Given the description of an element on the screen output the (x, y) to click on. 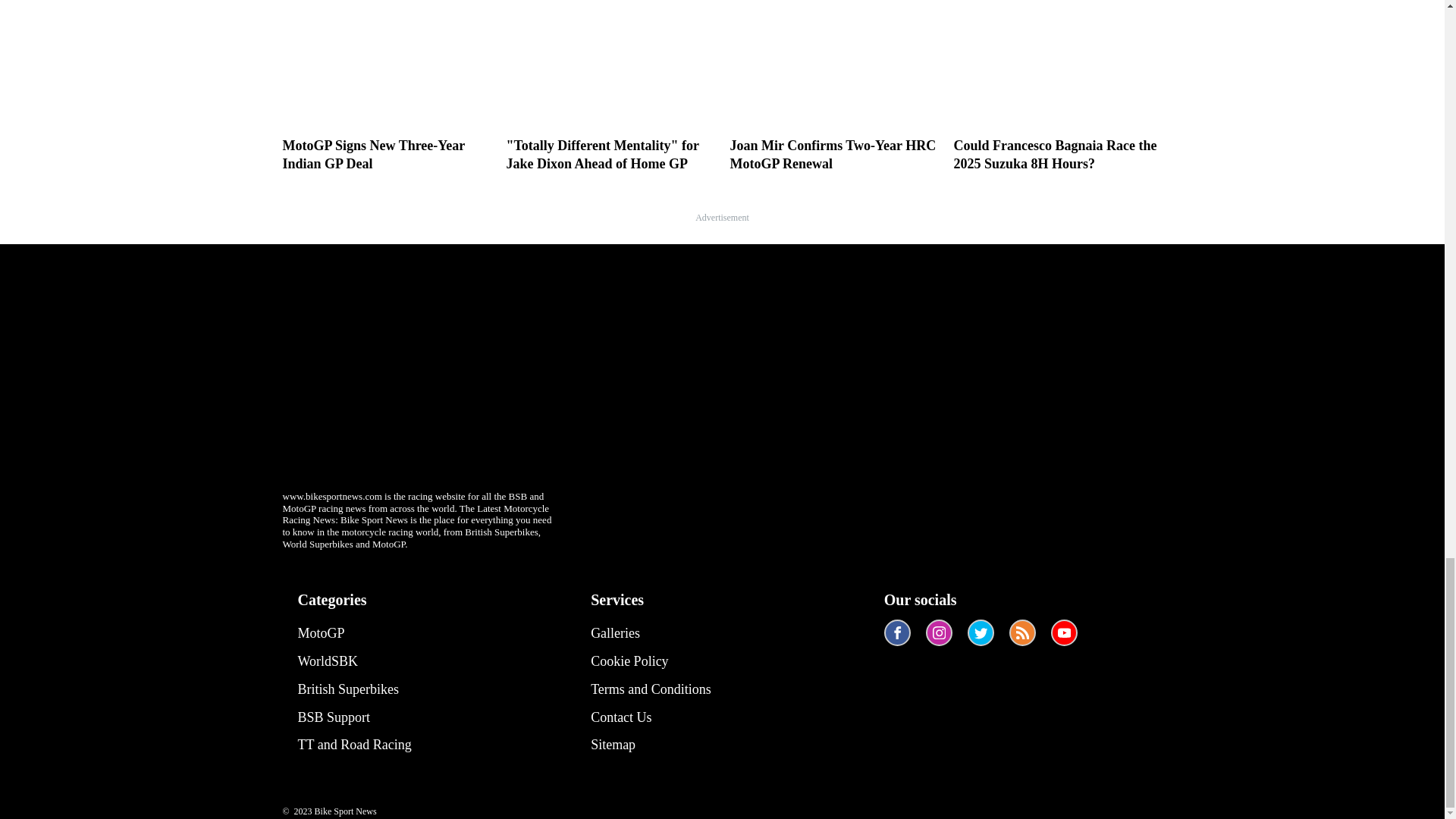
MotoGP Signs New Three-Year Indian GP Deal (386, 86)
Could Francesco Bagnaia Race the 2025 Suzuka 8H Hours? (1057, 86)
Joan Mir Confirms Two-Year HRC MotoGP Renewal (833, 86)
